Given the description of an element on the screen output the (x, y) to click on. 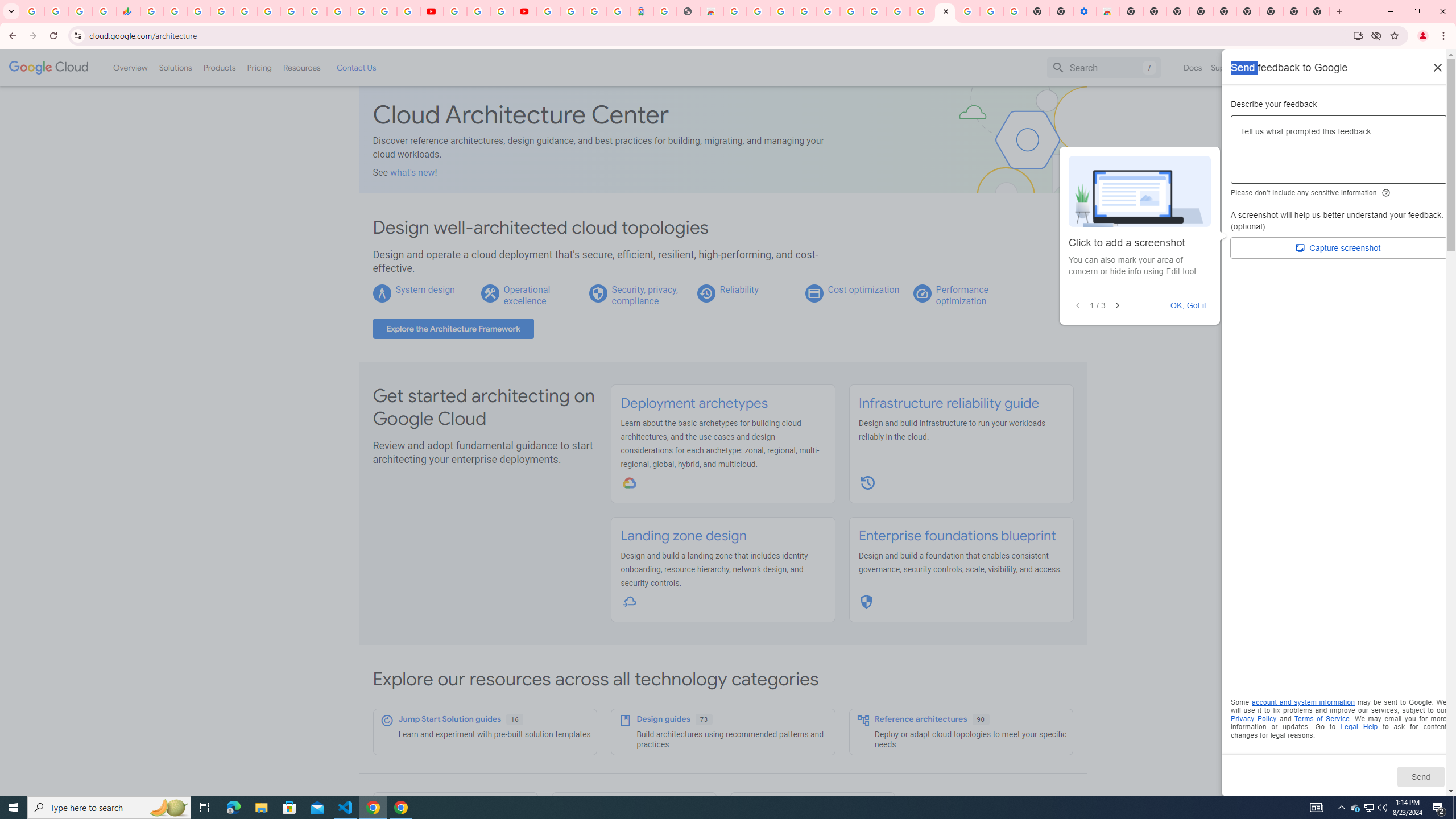
account and system information (1303, 702)
Explore the Architecture Framework (453, 328)
Privacy Checkup (408, 11)
Settings - Accessibility (1085, 11)
Sign in - Google Accounts (547, 11)
Google Account Help (478, 11)
Previous (1077, 305)
Resources (301, 67)
New Tab (1131, 11)
Chrome Web Store - Household (711, 11)
Infrastructure reliability guide (948, 402)
Ad Settings (804, 11)
